Given the description of an element on the screen output the (x, y) to click on. 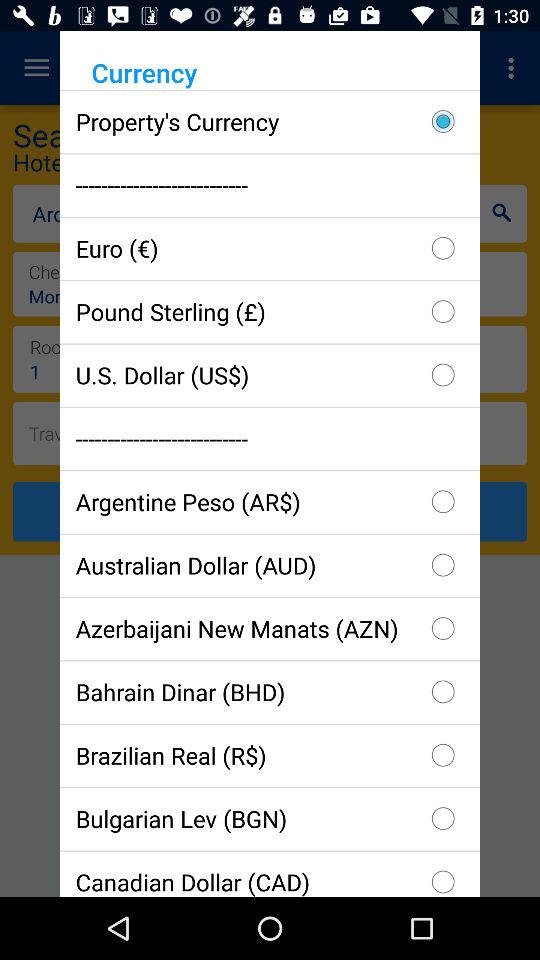
open the checkbox below the --------------------------- icon (270, 501)
